Given the description of an element on the screen output the (x, y) to click on. 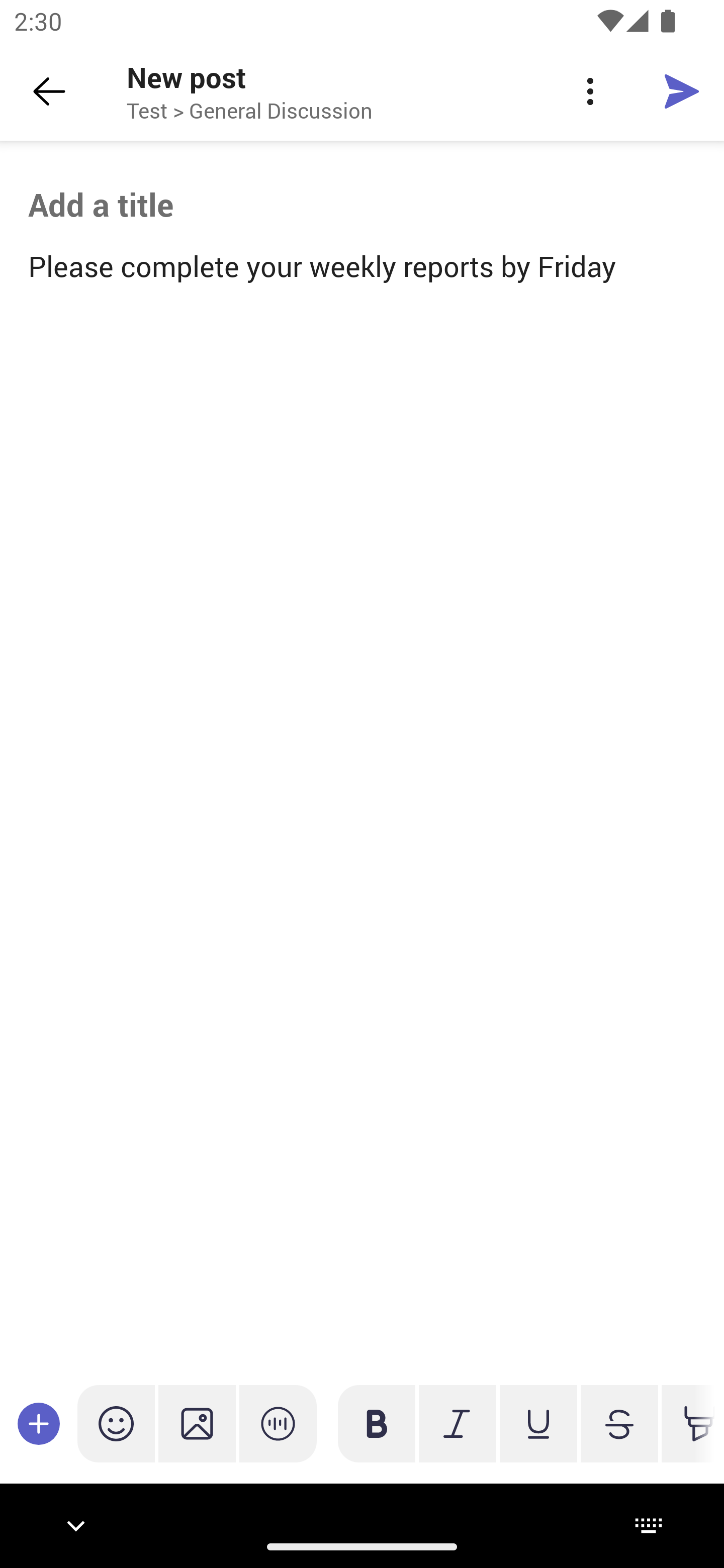
Back (49, 91)
Email options (589, 91)
Send message (681, 90)
Add a title (362, 204)
Compose options, collapsed (38, 1423)
GIFs and emojis picker (115, 1423)
Media (197, 1423)
Record audio message (278, 1423)
Bold (376, 1423)
Italic (456, 1423)
Underline (538, 1423)
Strikethrough (619, 1423)
Select text highlight color (688, 1423)
